Given the description of an element on the screen output the (x, y) to click on. 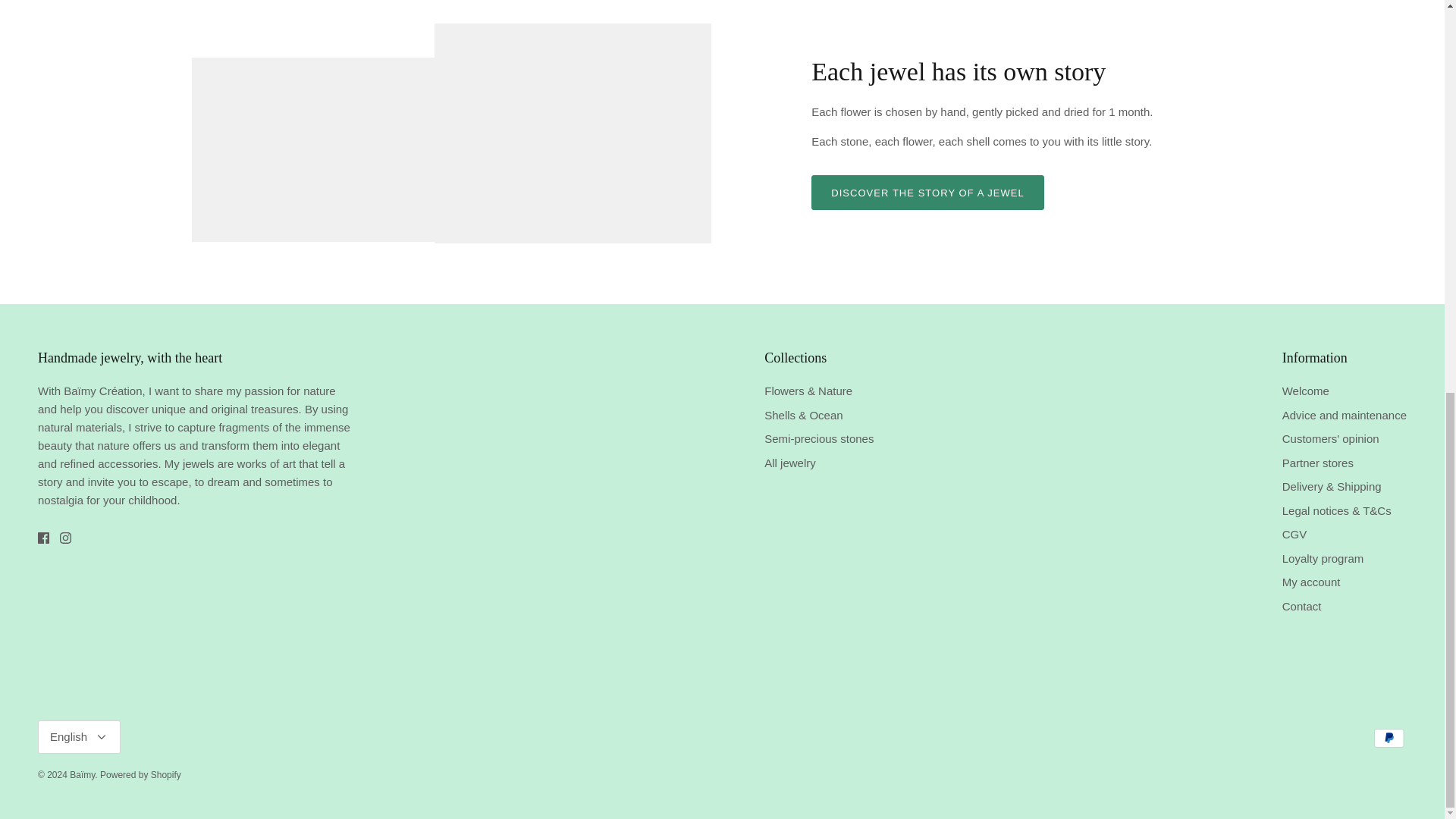
Down (100, 736)
Facebook (43, 537)
Instagram (65, 537)
PayPal (1388, 737)
